Given the description of an element on the screen output the (x, y) to click on. 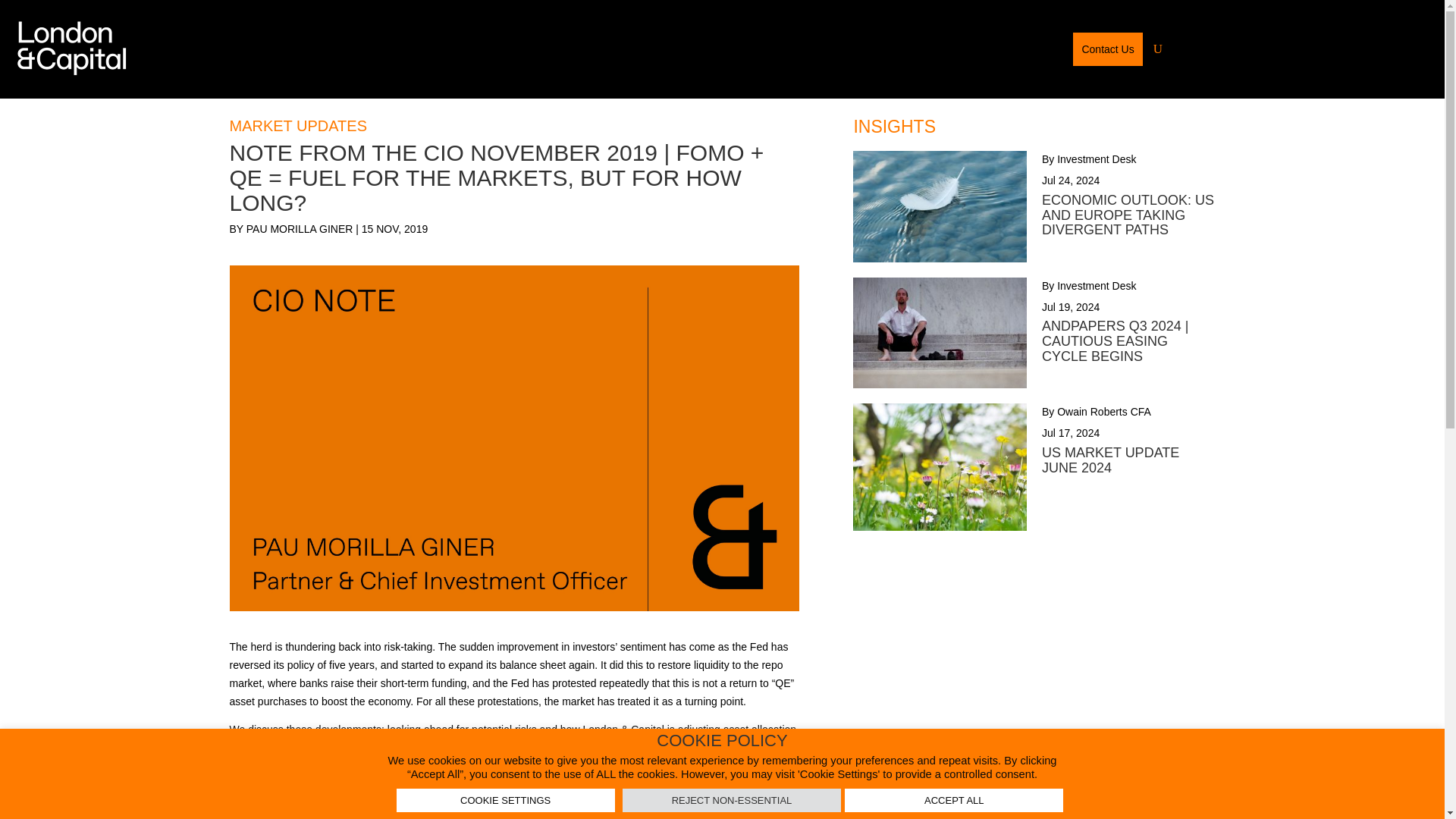
Contact Us (1107, 49)
Wealth Management Services (739, 48)
Client Portal (1024, 48)
